Given the description of an element on the screen output the (x, y) to click on. 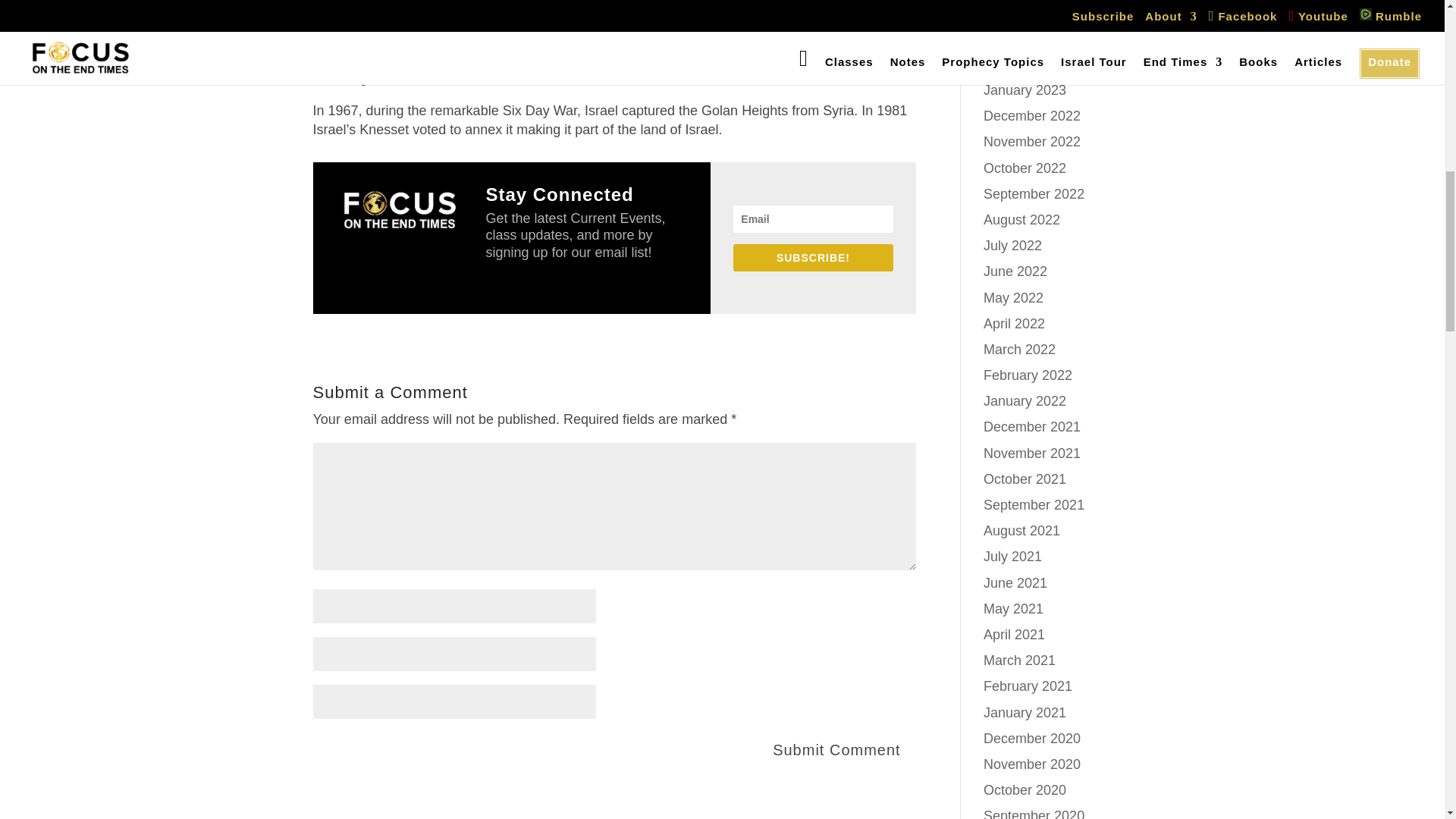
Submit Comment (836, 749)
